Given the description of an element on the screen output the (x, y) to click on. 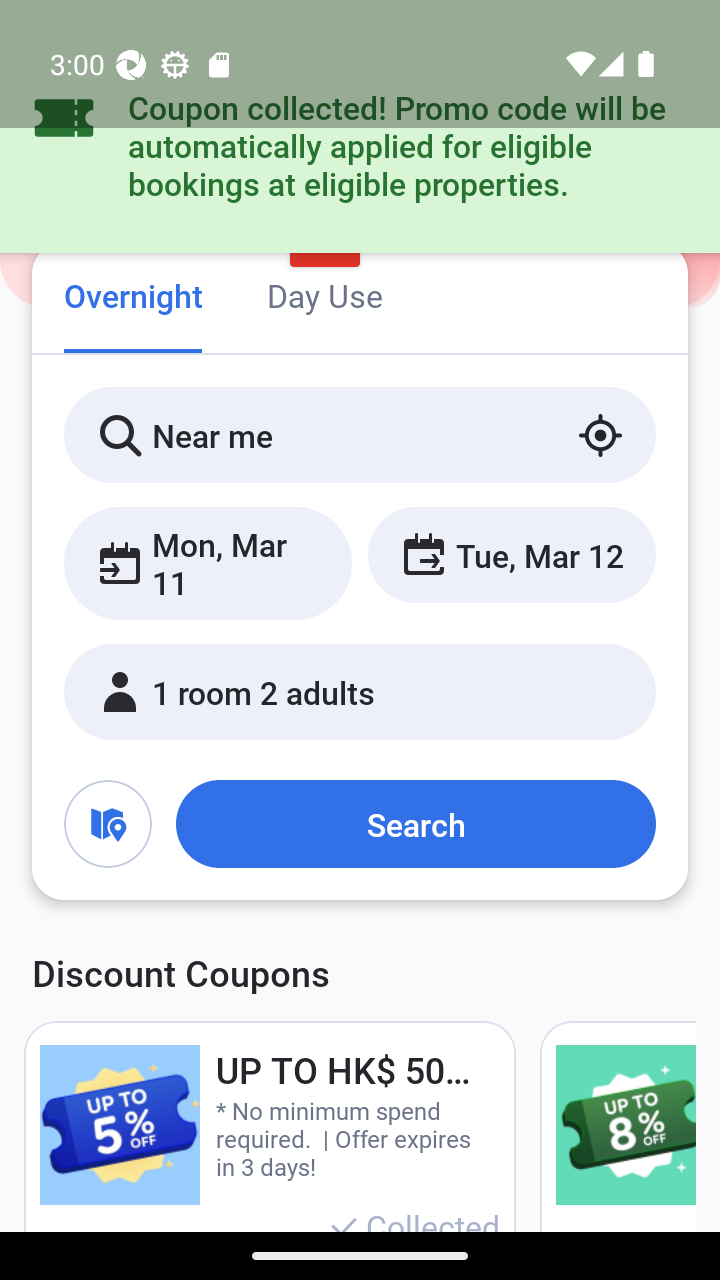
Day Use (324, 298)
Near me (359, 434)
Mon, Mar 11 (208, 562)
Tue, Mar 12 (511, 554)
1 room 2 adults (359, 691)
Search (415, 823)
